Given the description of an element on the screen output the (x, y) to click on. 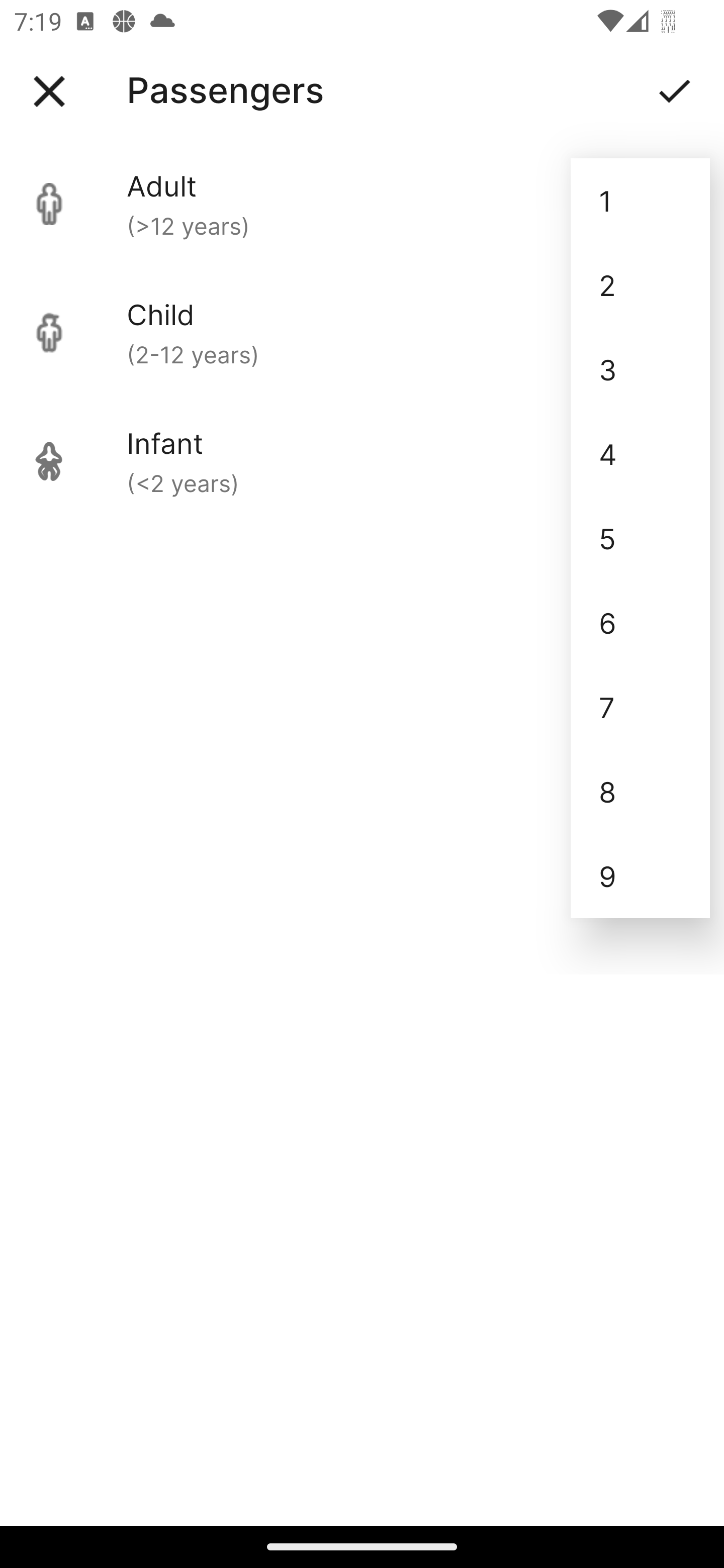
1 (640, 200)
2 (640, 285)
3 (640, 368)
4 (640, 452)
5 (640, 537)
6 (640, 622)
7 (640, 706)
8 (640, 791)
9 (640, 876)
